Given the description of an element on the screen output the (x, y) to click on. 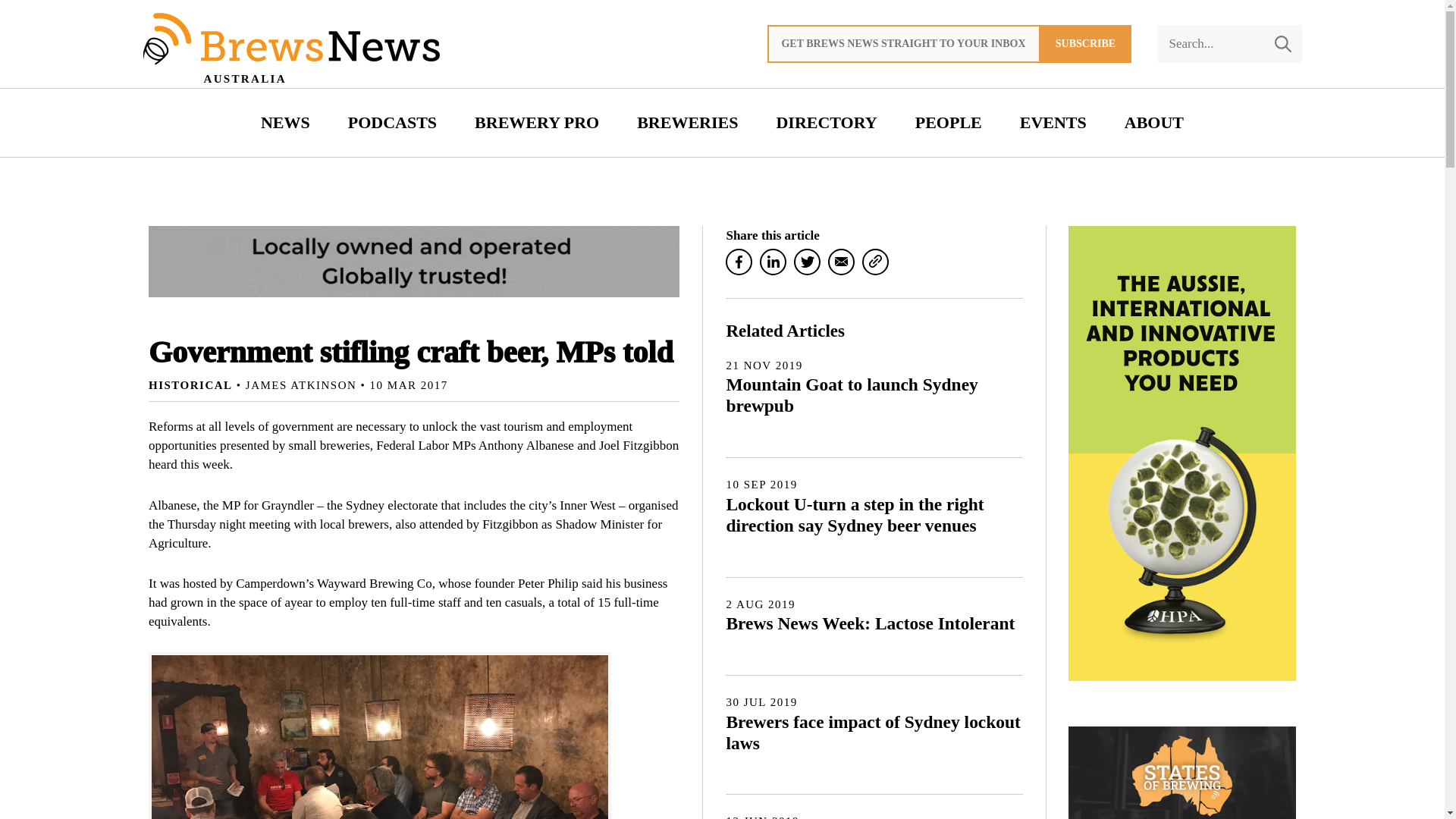
Subscribe (1086, 44)
LinkedIn (773, 261)
BREWERIES (687, 122)
SEARCH (1282, 44)
PODCASTS (392, 122)
PEOPLE (948, 122)
Facebook (738, 261)
ABOUT (1154, 122)
NEWS (284, 122)
DIRECTORY (826, 122)
BREWERY PRO (536, 122)
Subscribe (1086, 44)
EVENTS (1053, 122)
